Given the description of an element on the screen output the (x, y) to click on. 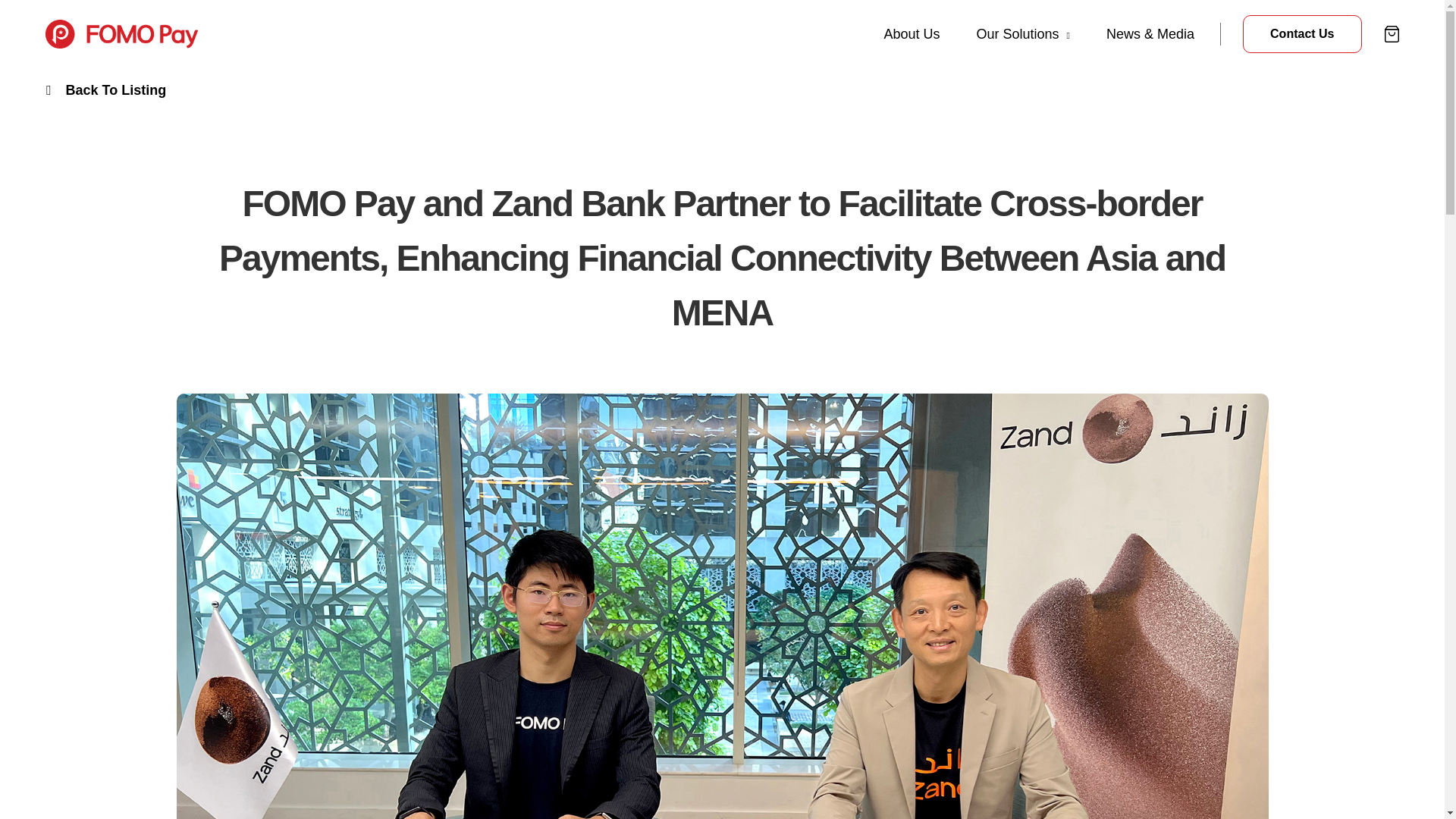
Cart (1391, 33)
Contact Us (1302, 34)
Our Solutions (1023, 33)
Back To Listing (105, 90)
